Given the description of an element on the screen output the (x, y) to click on. 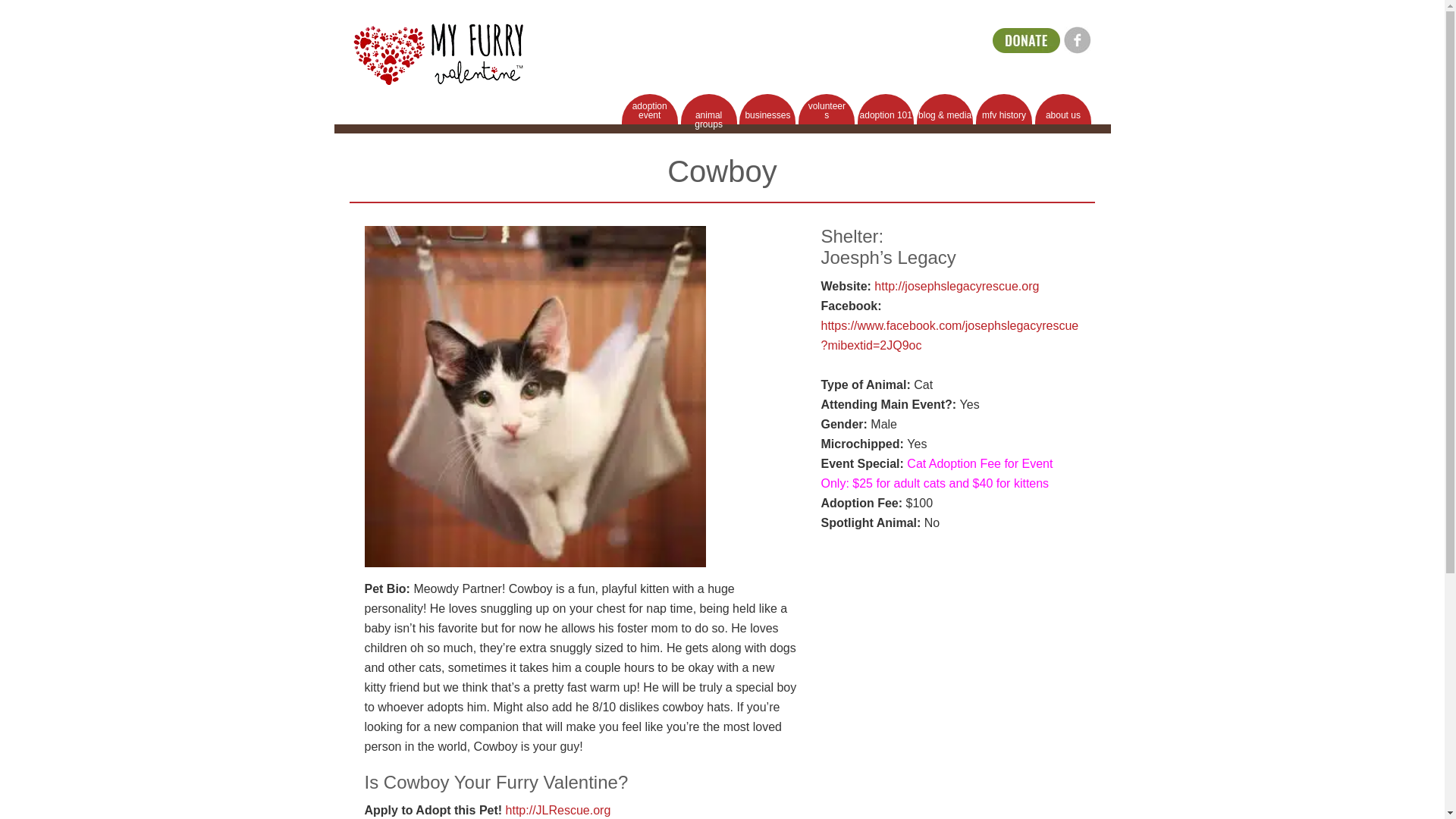
adoption event (649, 109)
My Furry Valentine (437, 54)
volunteers (825, 109)
businesses (766, 109)
animal groups (708, 109)
adoption 101 (885, 109)
mfv history (1003, 109)
My Furry Valentine (437, 51)
